Given the description of an element on the screen output the (x, y) to click on. 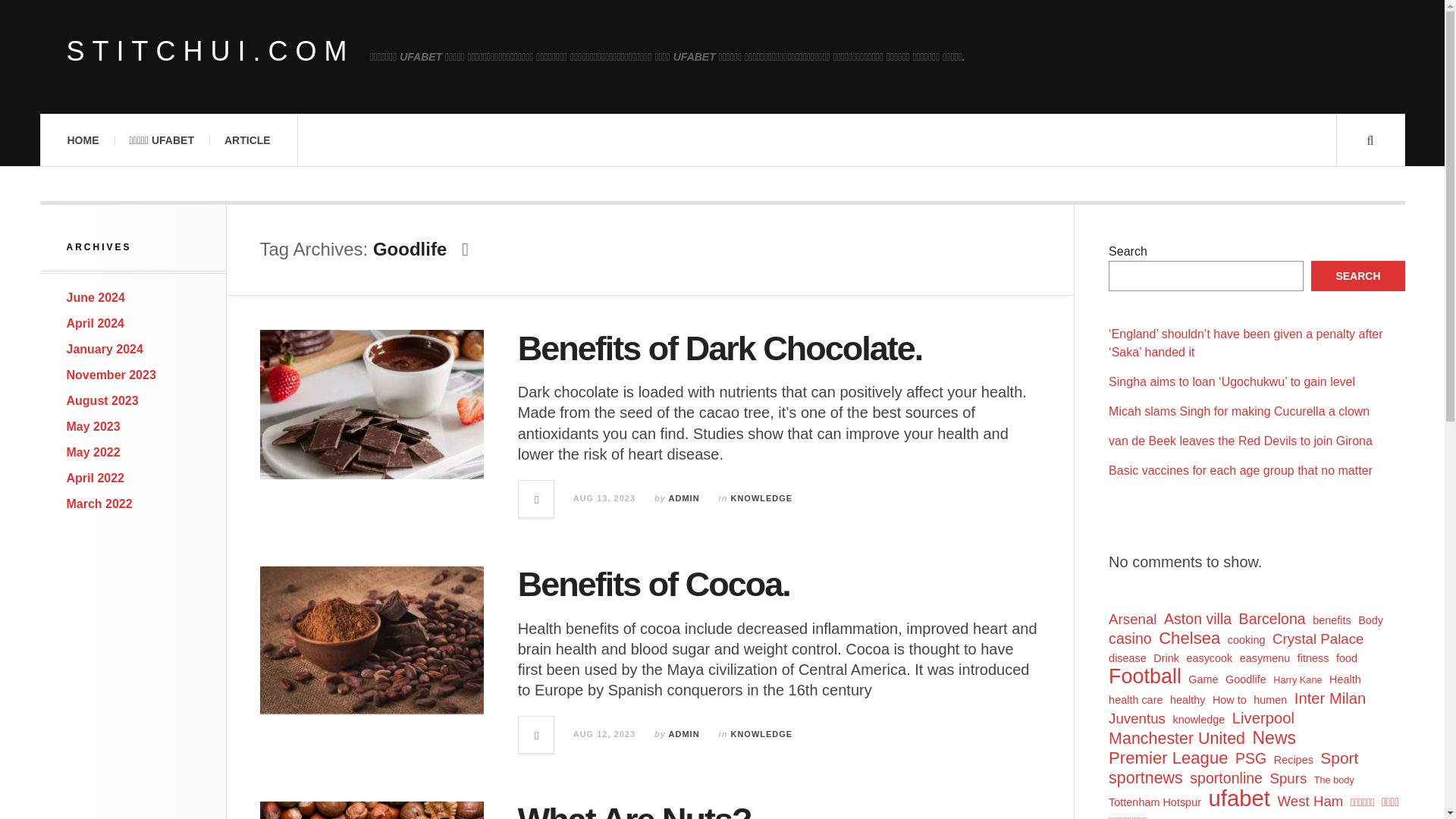
View all posts in knowledge (761, 497)
Posts by admin (684, 733)
Read More... (536, 734)
SEARCH (1358, 276)
March 2022 (99, 503)
April 2024 (94, 323)
Posts by admin (684, 497)
stitchui.com (210, 51)
January 2024 (104, 349)
ARTICLE (247, 140)
STITCHUI.COM (210, 51)
KNOWLEDGE (761, 733)
May 2022 (93, 451)
What Are Nuts? (634, 809)
June 2024 (95, 297)
